Given the description of an element on the screen output the (x, y) to click on. 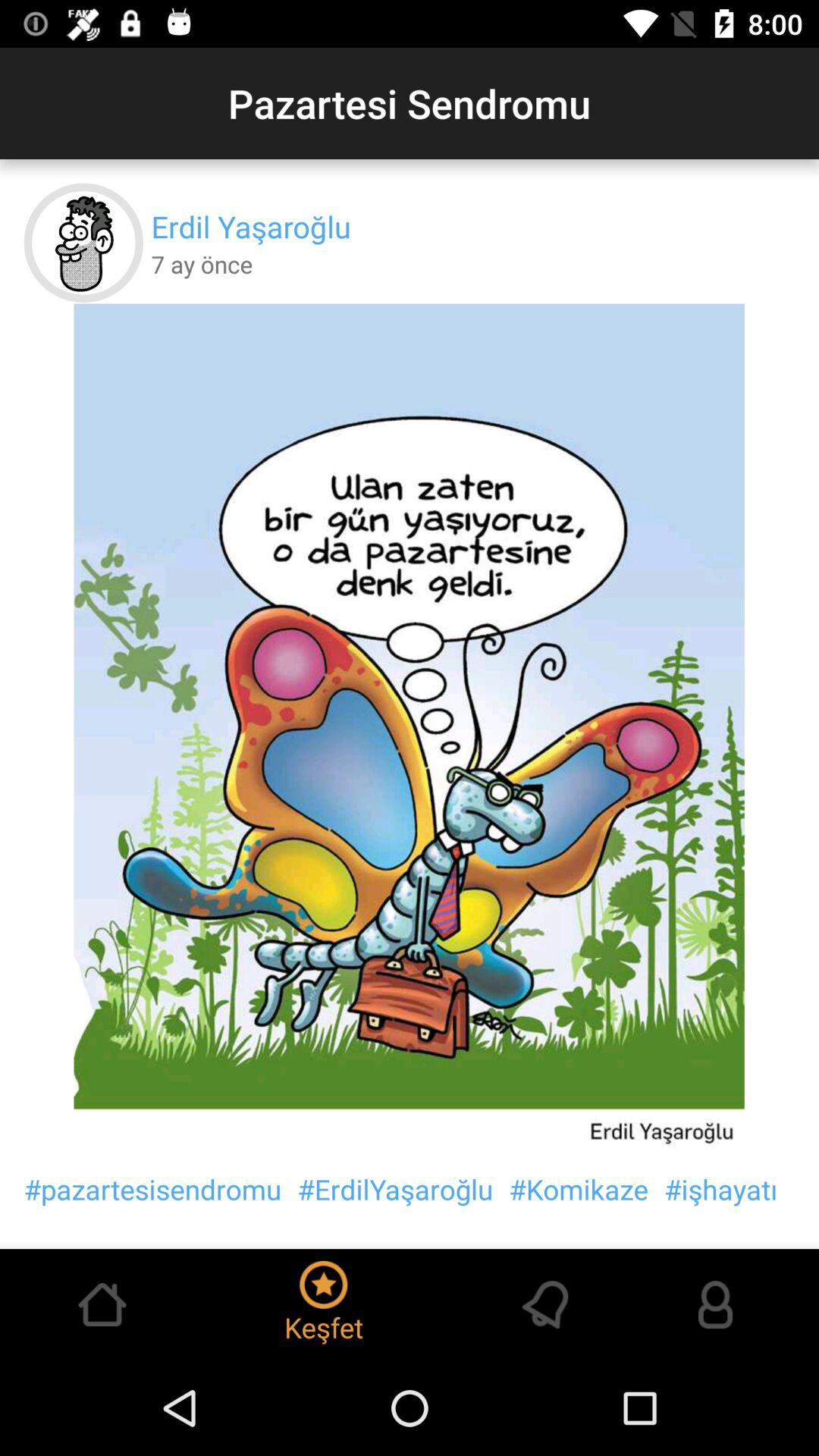
turn on icon next to the #komikaze item (395, 1189)
